Given the description of an element on the screen output the (x, y) to click on. 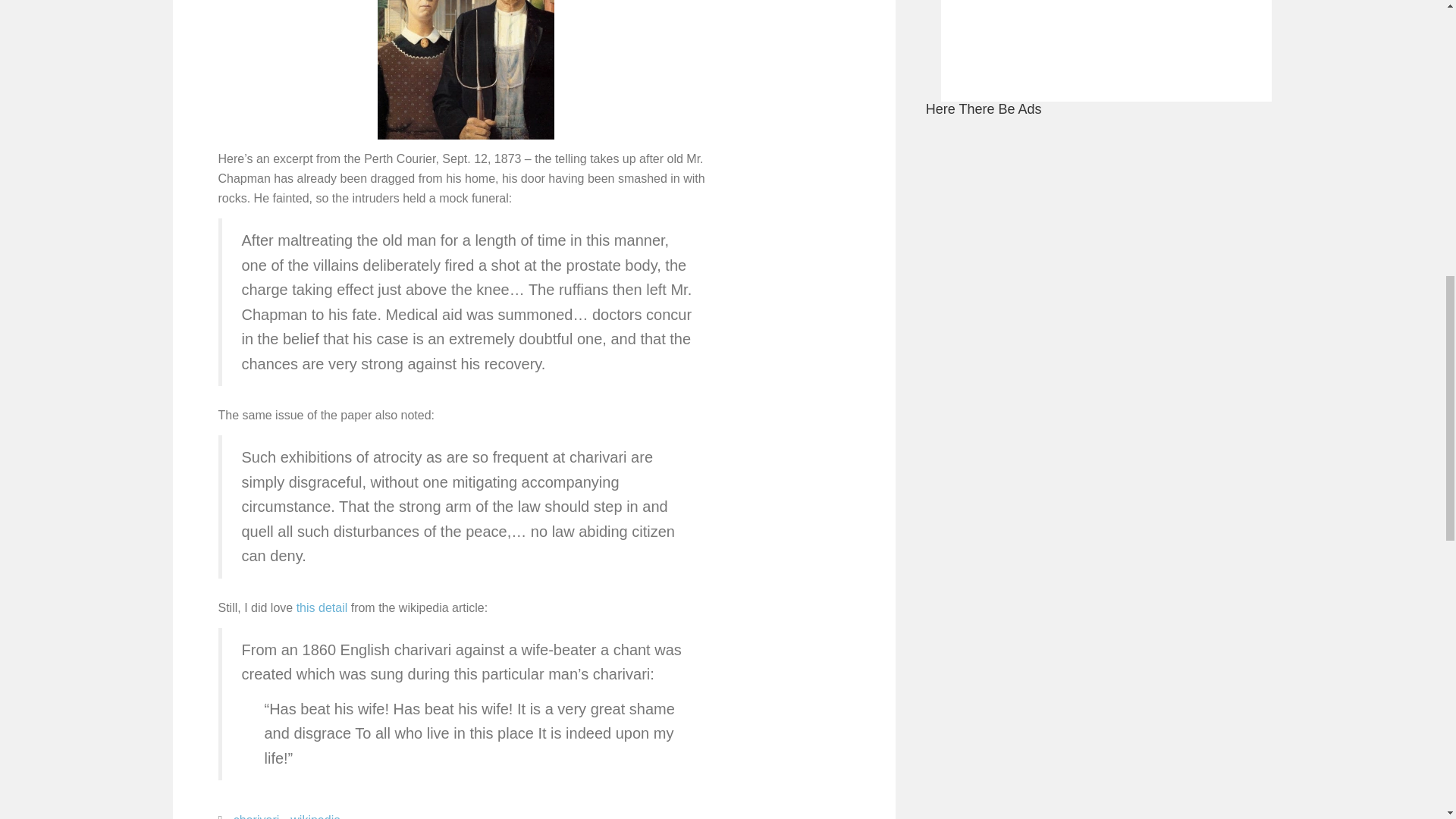
this detail (322, 607)
charivari (255, 814)
wikipedia (314, 814)
American Gothic (465, 69)
